Given the description of an element on the screen output the (x, y) to click on. 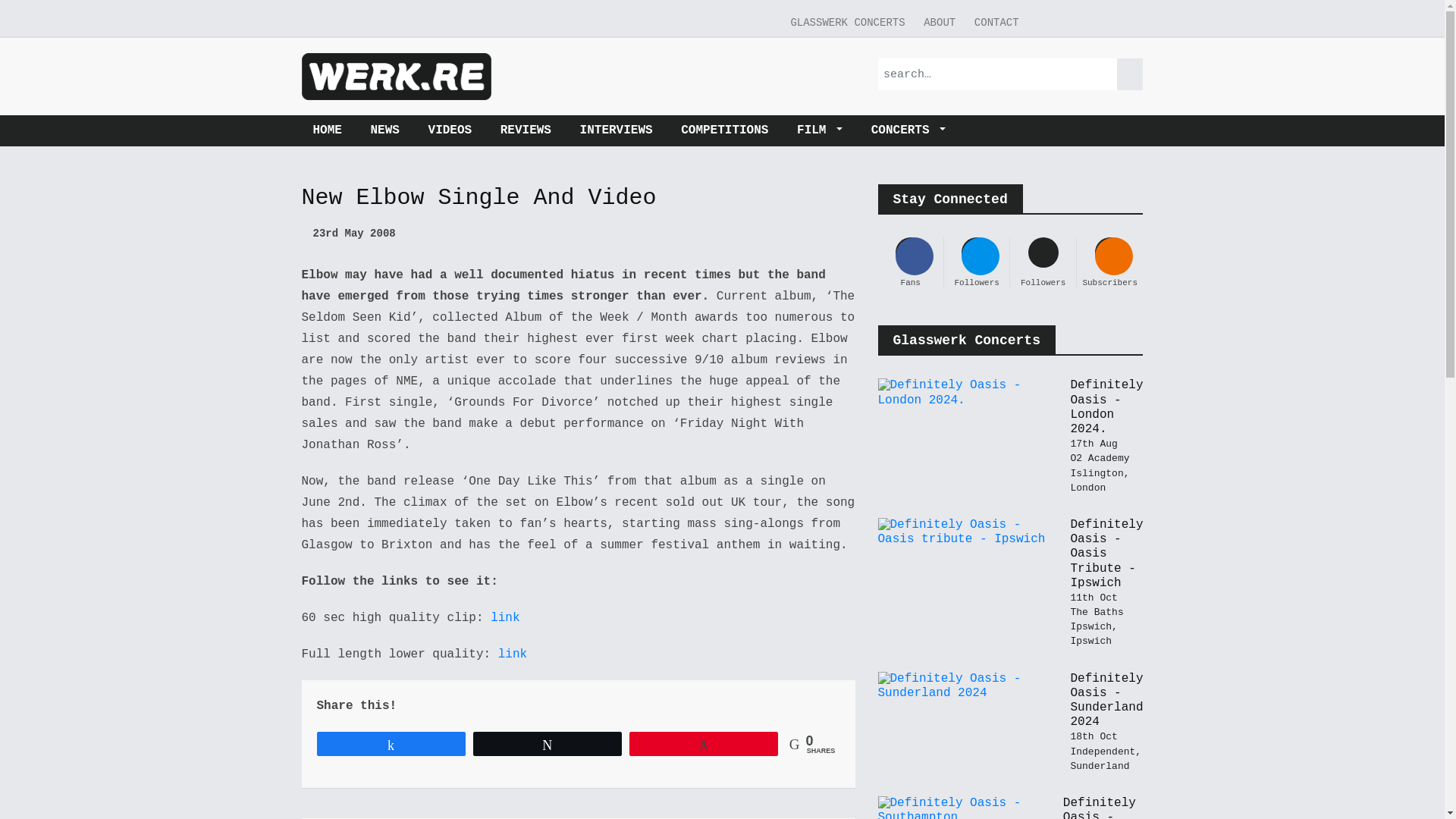
Followers (976, 262)
ABOUT (939, 22)
link (512, 653)
COMPETITIONS (723, 130)
Reviews (525, 130)
CONCERTS (908, 130)
Videos (450, 130)
GLASSWERK CONCERTS (847, 22)
NEWS (384, 130)
Home (332, 130)
